Given the description of an element on the screen output the (x, y) to click on. 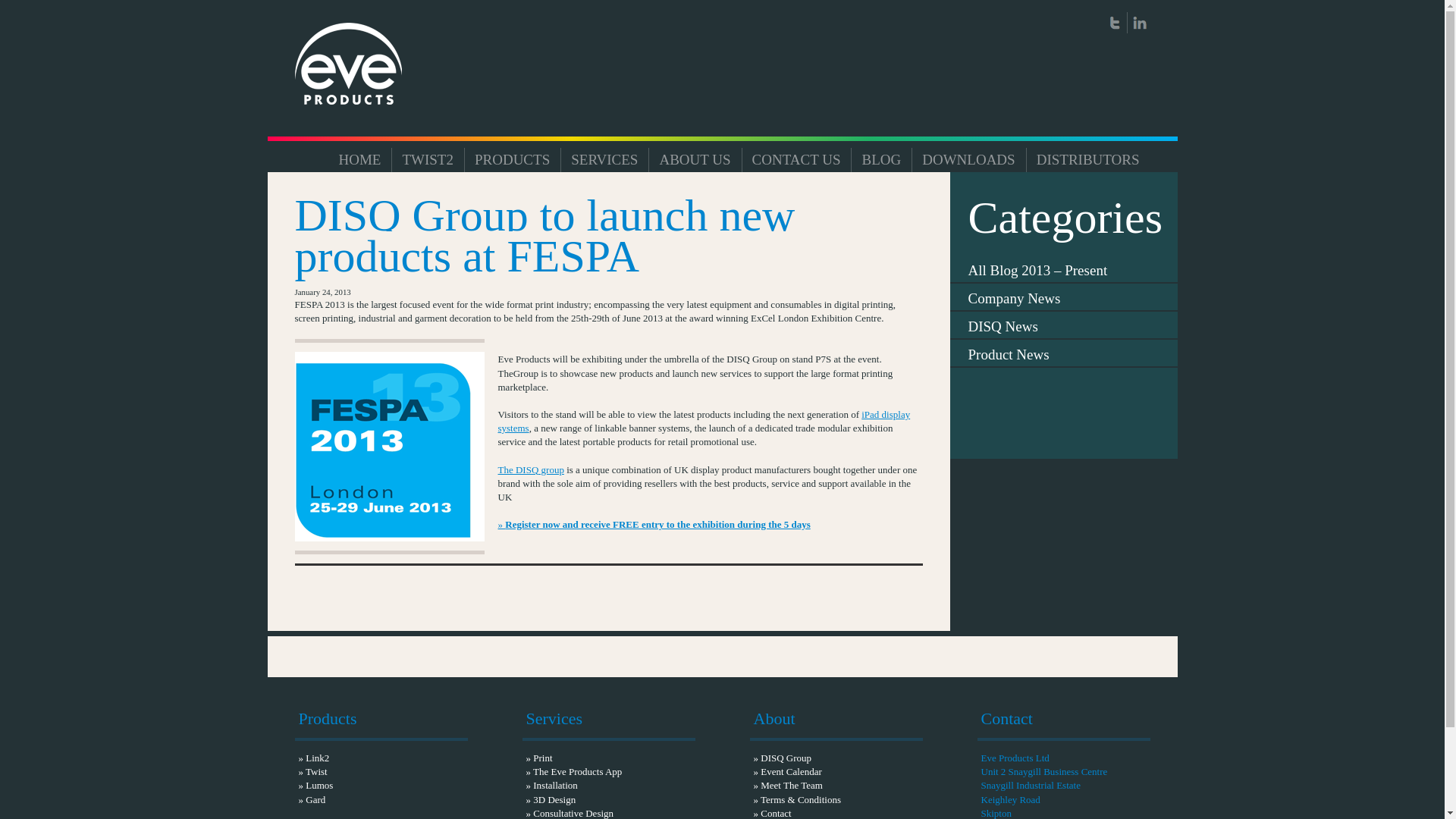
Company News (1062, 297)
PRODUCTS (512, 155)
iPad display systems (703, 421)
DOWNLOADS (968, 155)
LinkedIn (1139, 22)
Product News (1062, 353)
Twitter (1114, 22)
The DISQ group (530, 469)
SERVICES (603, 155)
DISQ News (1062, 325)
